Given the description of an element on the screen output the (x, y) to click on. 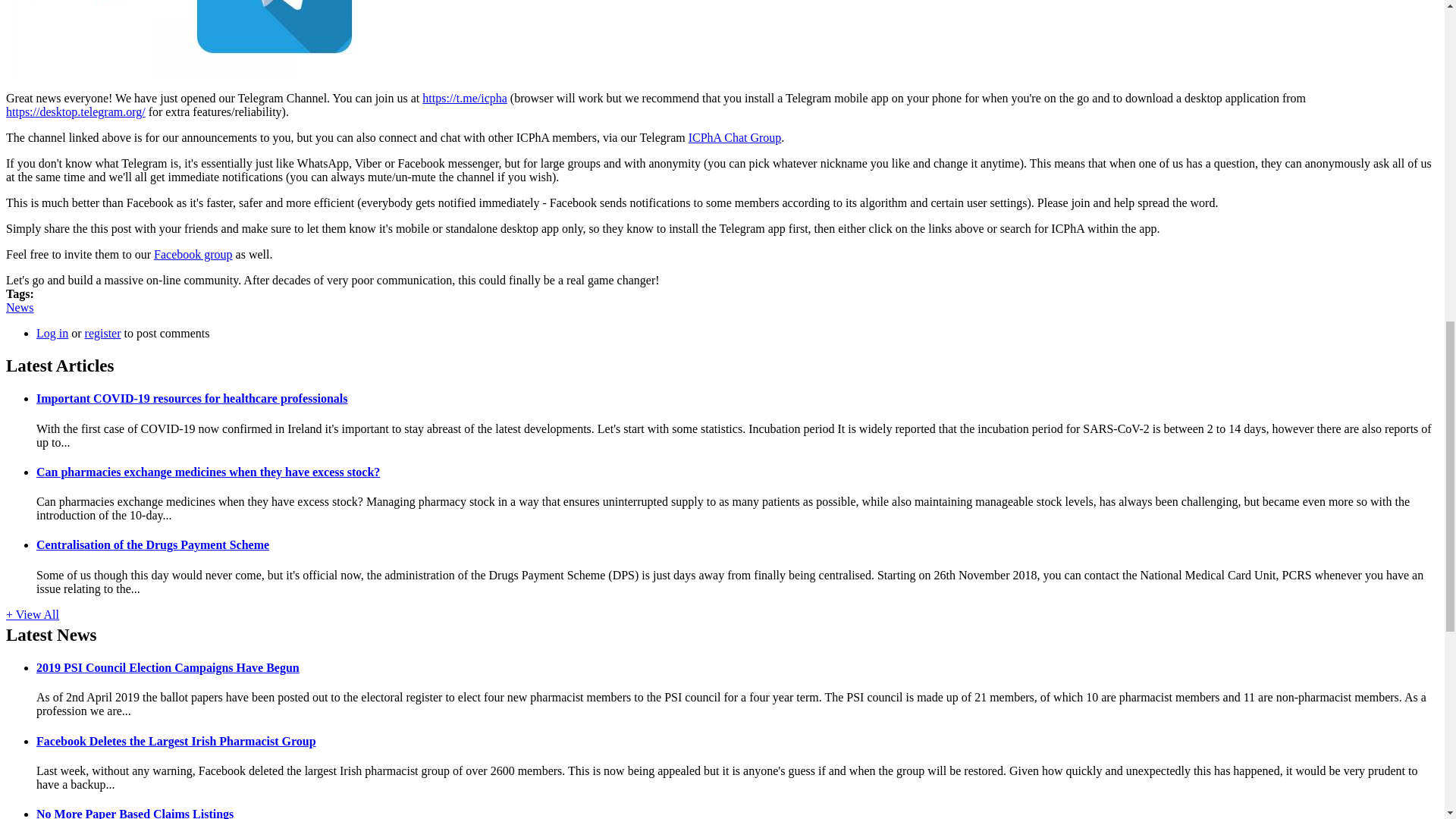
ICPhA Chat Group (734, 137)
register (102, 332)
Facebook group (193, 254)
Important COVID-19 resources for healthcare professionals (191, 398)
Log in (52, 332)
News (19, 307)
